Given the description of an element on the screen output the (x, y) to click on. 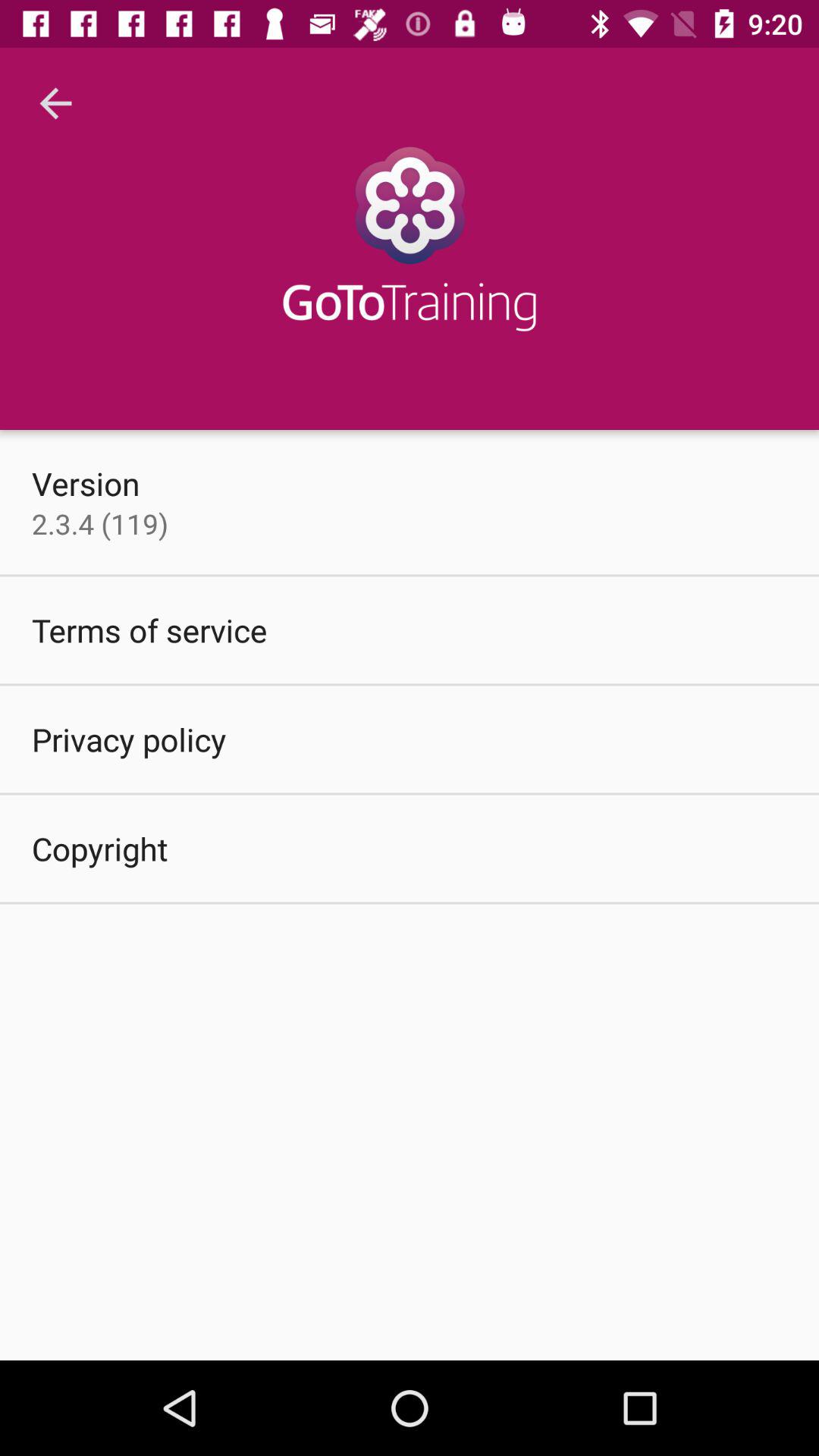
tap 2 3 4 item (99, 523)
